Given the description of an element on the screen output the (x, y) to click on. 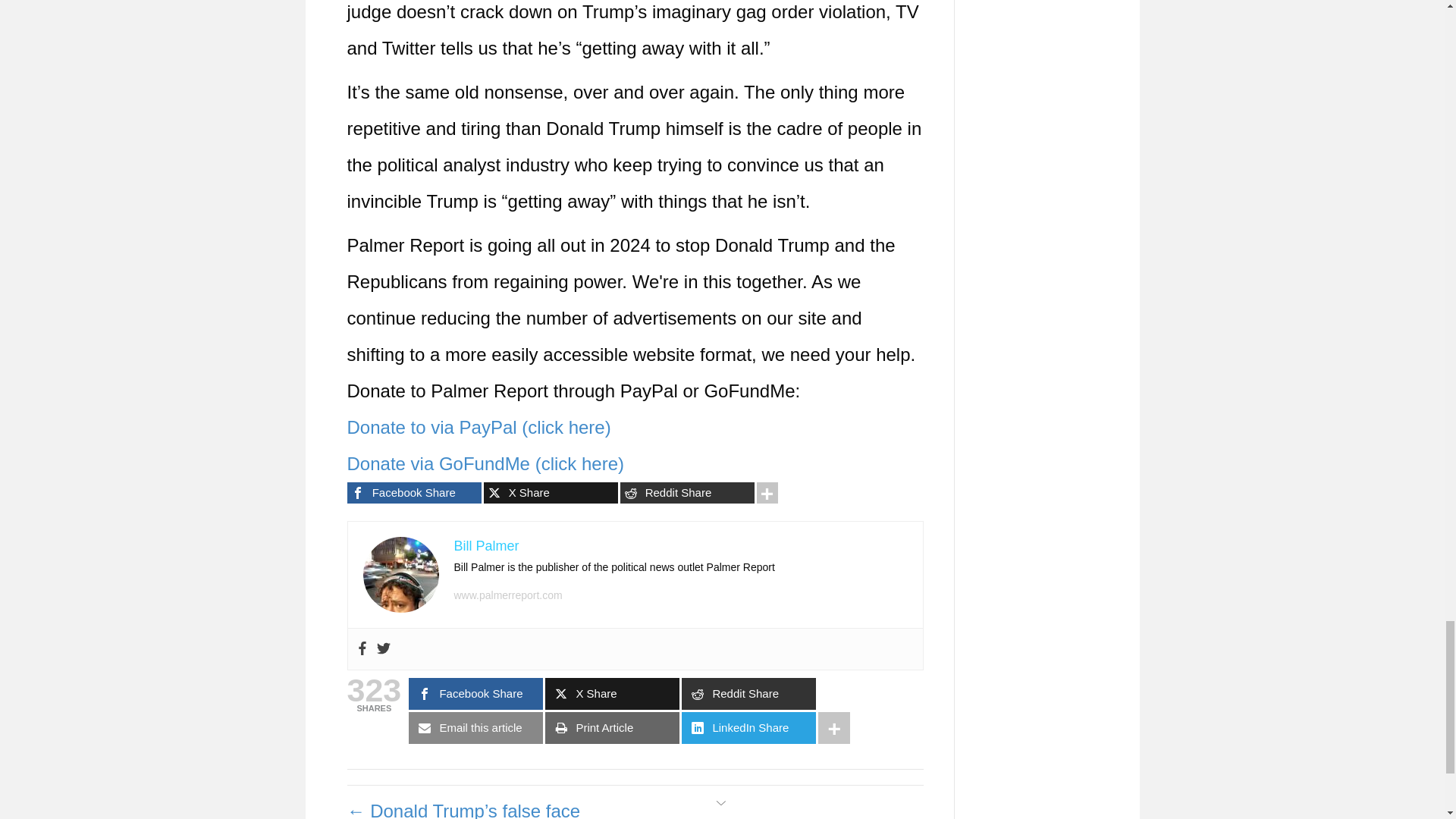
Facebook Share (414, 492)
X Share (550, 492)
Reddit Share (687, 492)
